Given the description of an element on the screen output the (x, y) to click on. 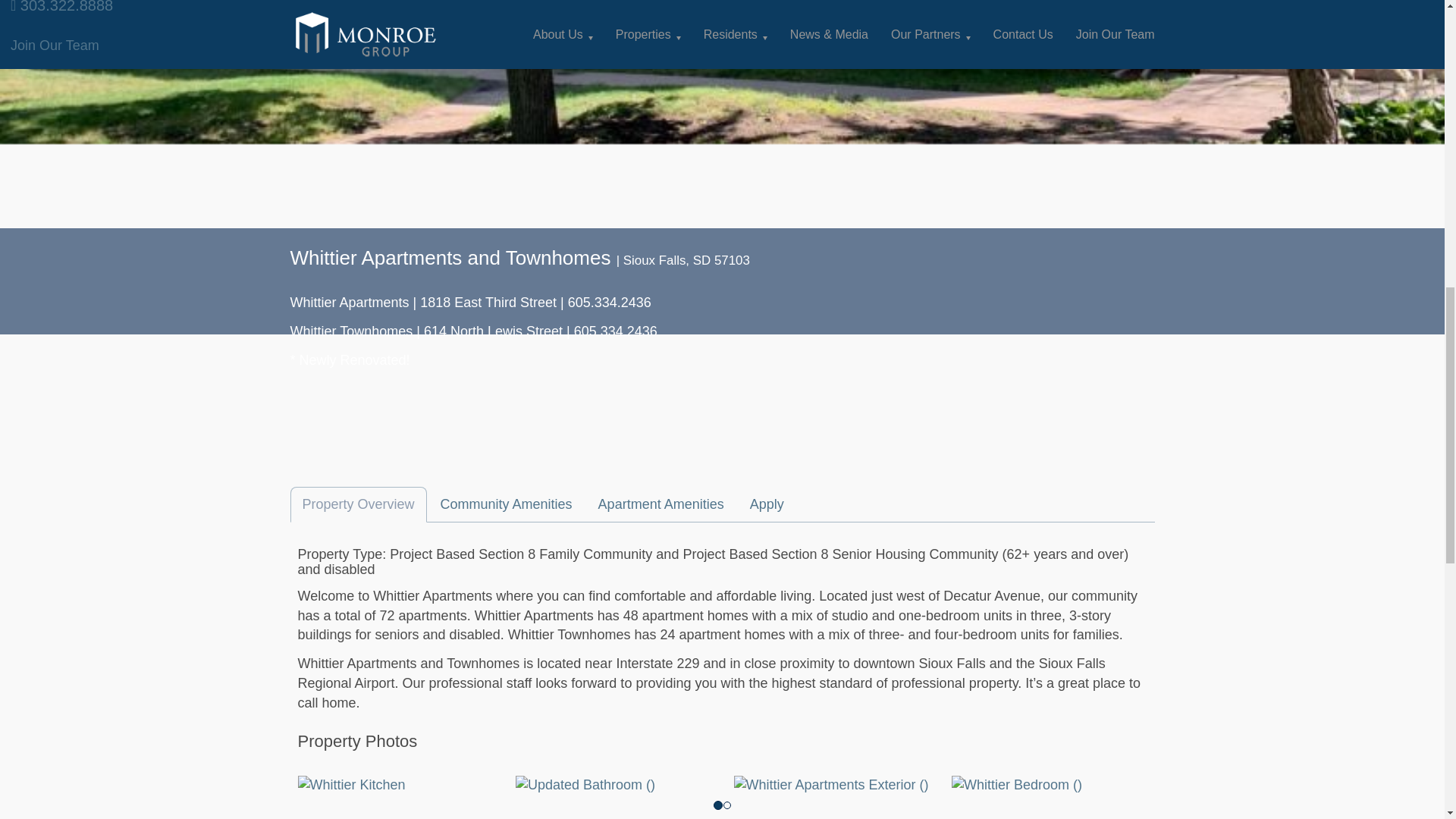
Apartment Amenities (661, 504)
Apply (767, 504)
Community Amenities (506, 504)
Property Overview (357, 504)
